Given the description of an element on the screen output the (x, y) to click on. 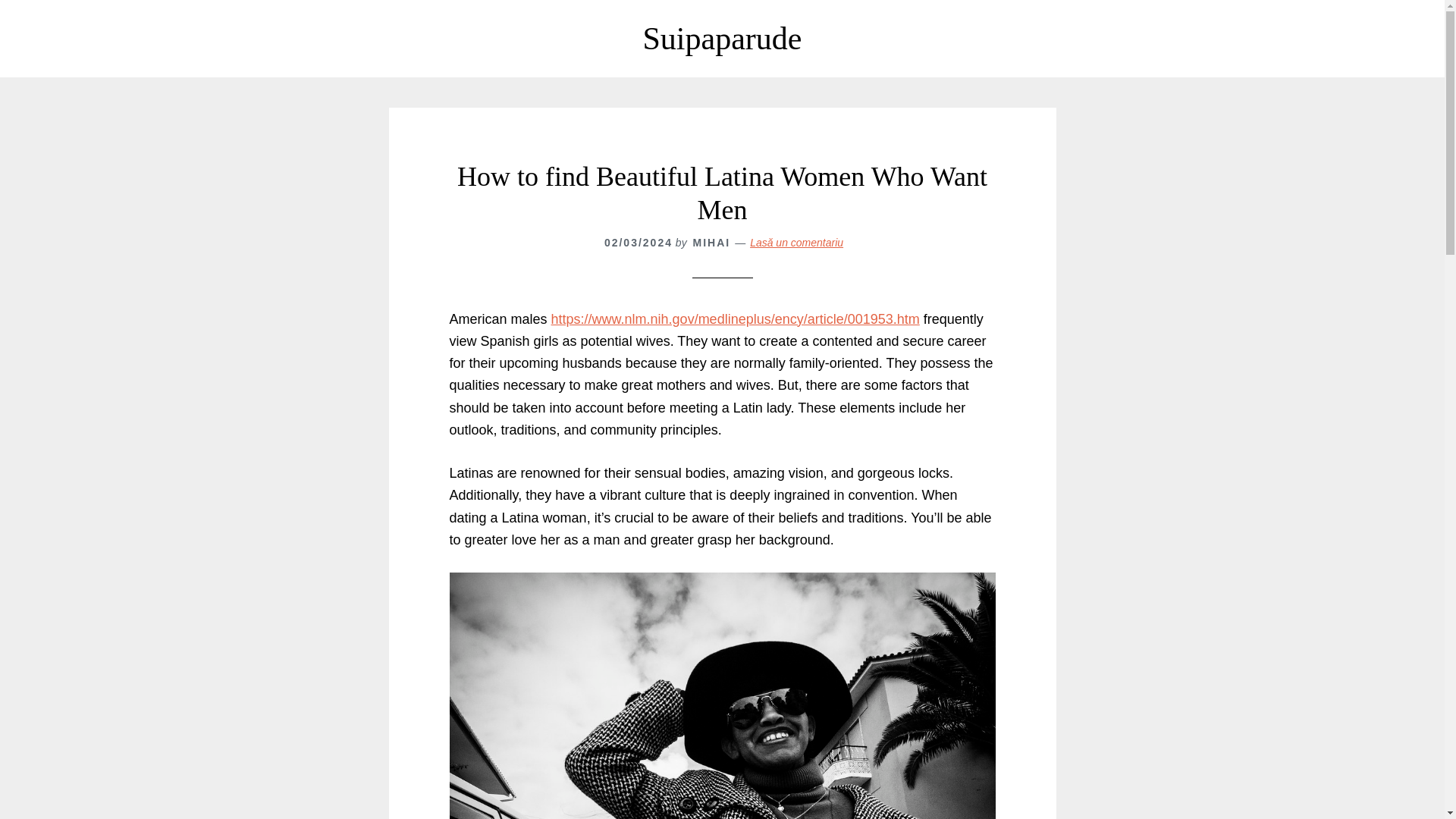
MIHAI (711, 242)
Suipaparude (722, 38)
